Given the description of an element on the screen output the (x, y) to click on. 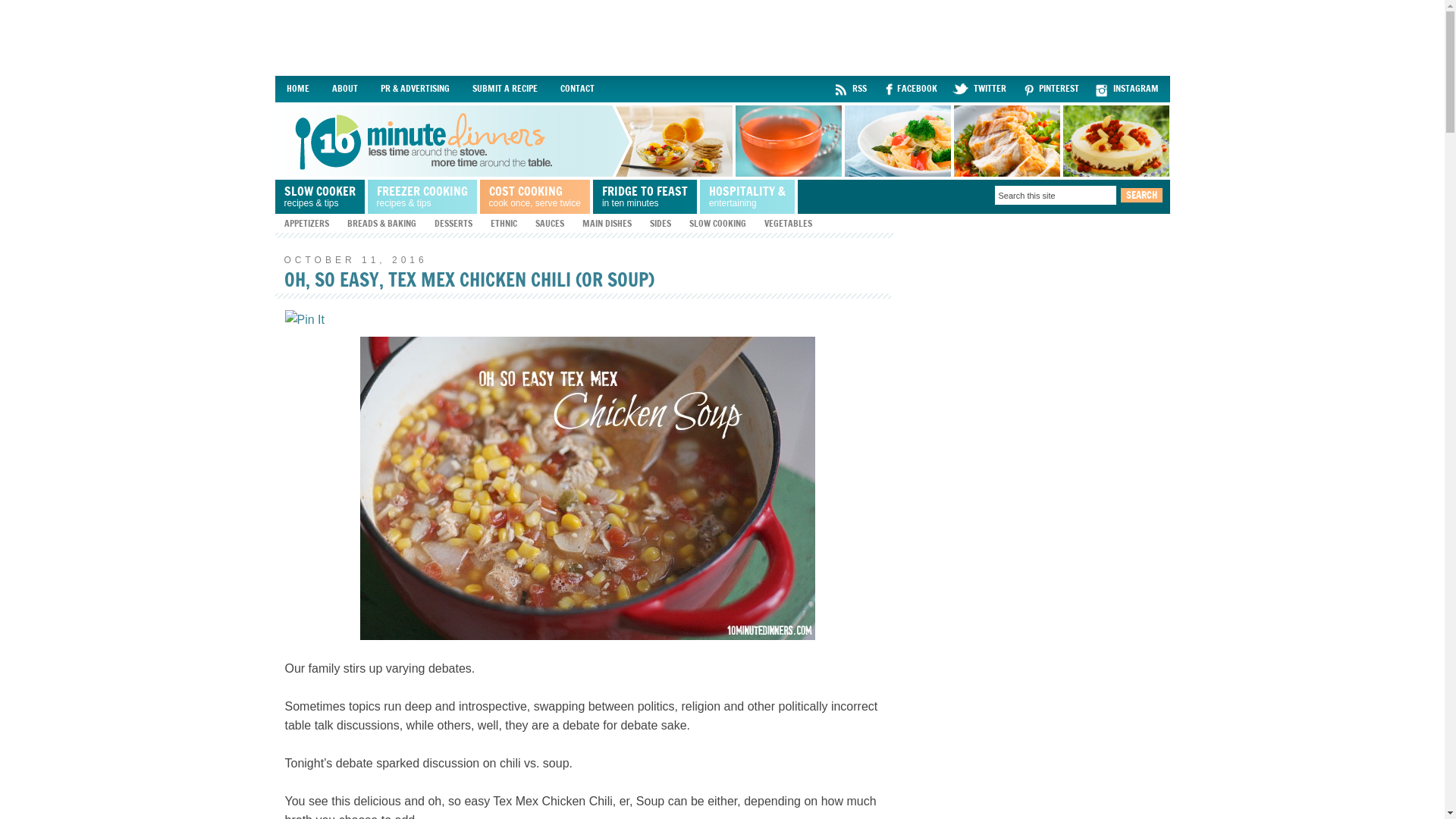
ABOUT Element type: text (344, 88)
PR & ADVERTISING Element type: text (414, 88)
TWITTER Element type: text (981, 88)
PINTEREST Element type: text (1053, 88)
FREEZER COOKING
recipes & tips Element type: text (423, 196)
SLOW COOKER
recipes & tips Element type: text (320, 196)
HOME Element type: text (297, 88)
MAIN DISHES Element type: text (606, 222)
RSS Element type: text (851, 88)
Search Element type: text (1141, 195)
VEGETABLES Element type: text (788, 222)
SAUCES Element type: text (549, 222)
Pin It Element type: hover (304, 319)
CONTACT Element type: text (577, 88)
ETHNIC Element type: text (502, 222)
HOSPITALITY &
entertaining Element type: text (748, 196)
10 Minute Dinners Element type: text (721, 140)
COST COOKING
cook once, serve twice Element type: text (535, 196)
FRIDGE TO FEAST
in ten minutes Element type: text (646, 196)
BREADS & BAKING Element type: text (381, 222)
Advertisement Element type: hover (721, 37)
DESSERTS Element type: text (452, 222)
SLOW COOKING Element type: text (716, 222)
SIDES Element type: text (659, 222)
SUBMIT A RECIPE Element type: text (505, 88)
FACEBOOK Element type: text (913, 88)
INSTAGRAM Element type: text (1130, 88)
APPETIZERS Element type: text (305, 222)
